Given the description of an element on the screen output the (x, y) to click on. 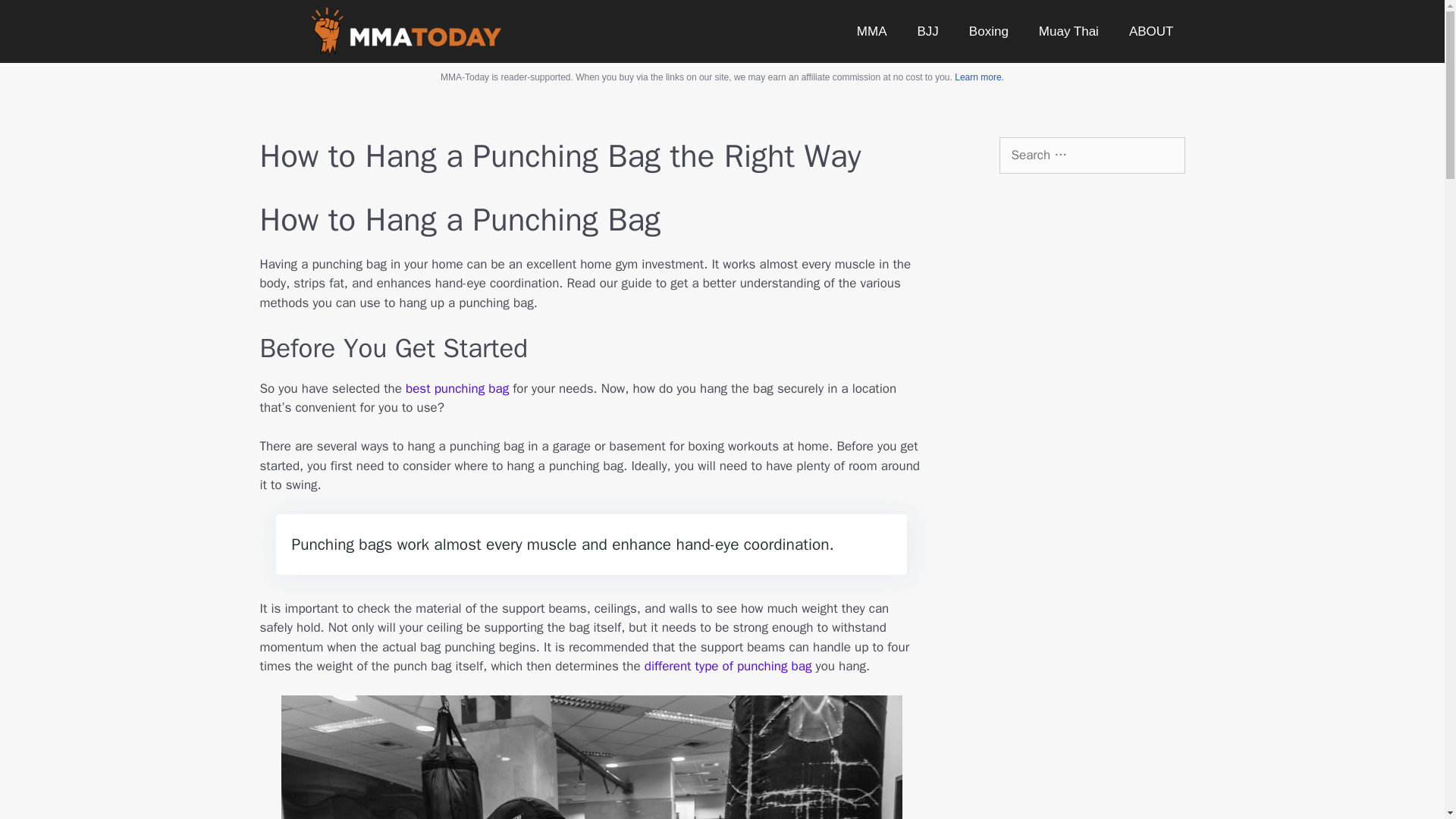
different type of punching bag (728, 666)
BJJ (927, 30)
Search for: (1091, 155)
ABOUT (1151, 30)
best punching bag (457, 388)
MMA (871, 30)
Learn more. (979, 77)
Muay Thai (1068, 30)
mma today new logo (405, 31)
Search (35, 18)
